Given the description of an element on the screen output the (x, y) to click on. 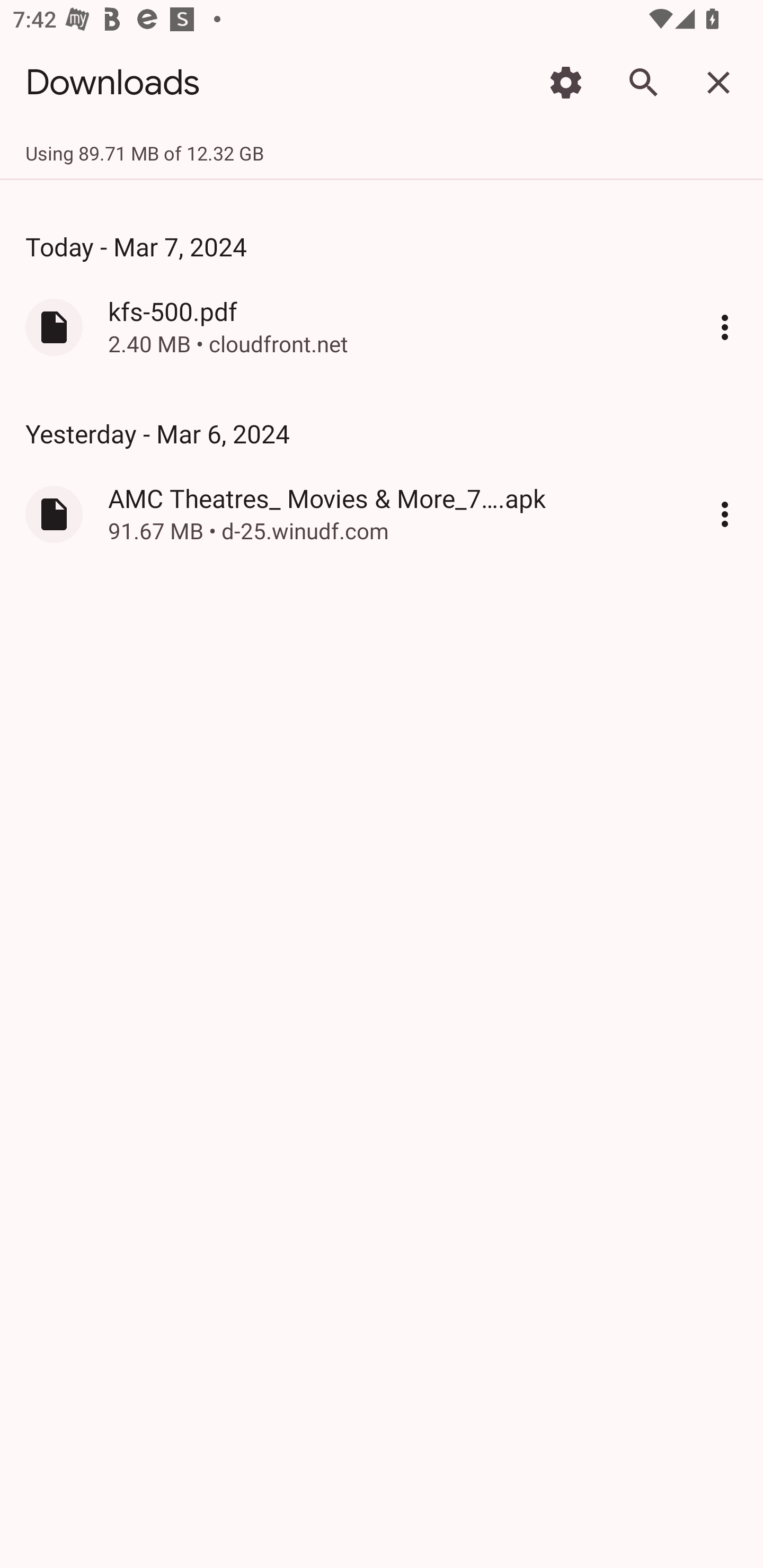
Settings (565, 81)
Search (642, 81)
Close (718, 81)
Customize and control Google Chrome (724, 326)
Customize and control Google Chrome (724, 513)
